Given the description of an element on the screen output the (x, y) to click on. 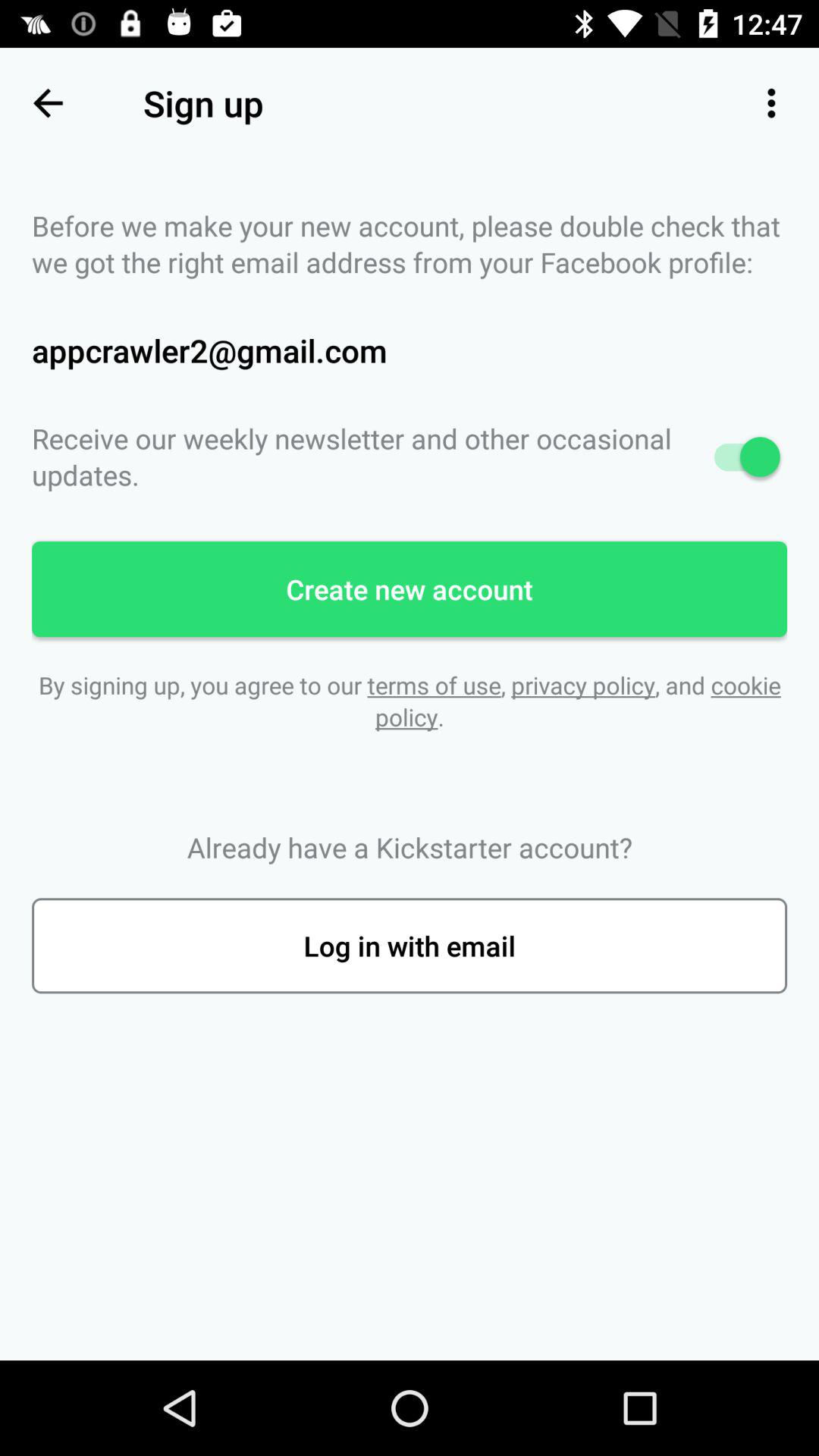
tap the item to the left of the sign up icon (47, 103)
